Given the description of an element on the screen output the (x, y) to click on. 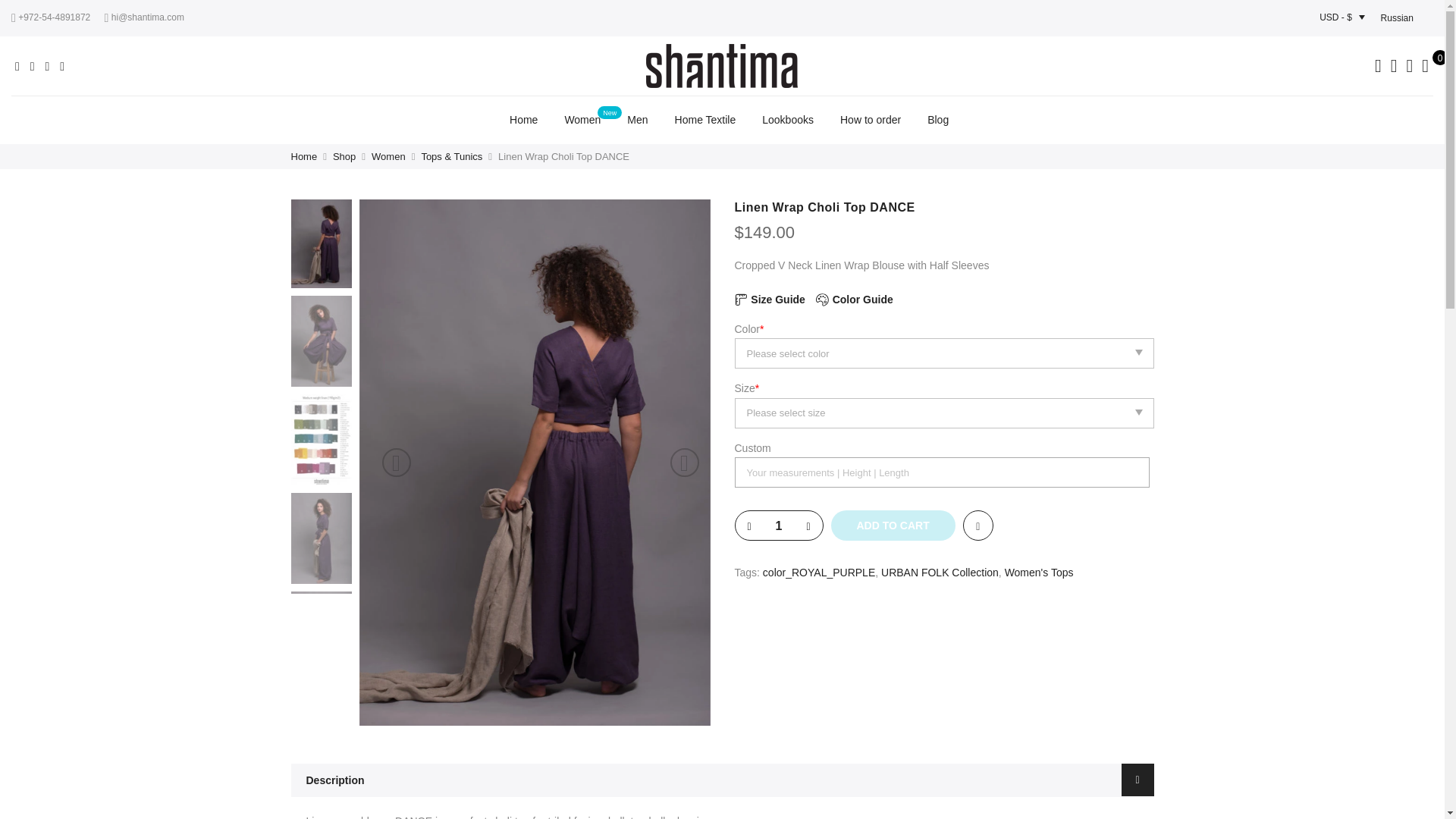
Home Textile (705, 119)
Women (581, 119)
Men (637, 119)
Lookbooks (787, 119)
Home (523, 119)
1 (778, 526)
How to order (870, 119)
Blog (938, 119)
Russian (1397, 18)
